Given the description of an element on the screen output the (x, y) to click on. 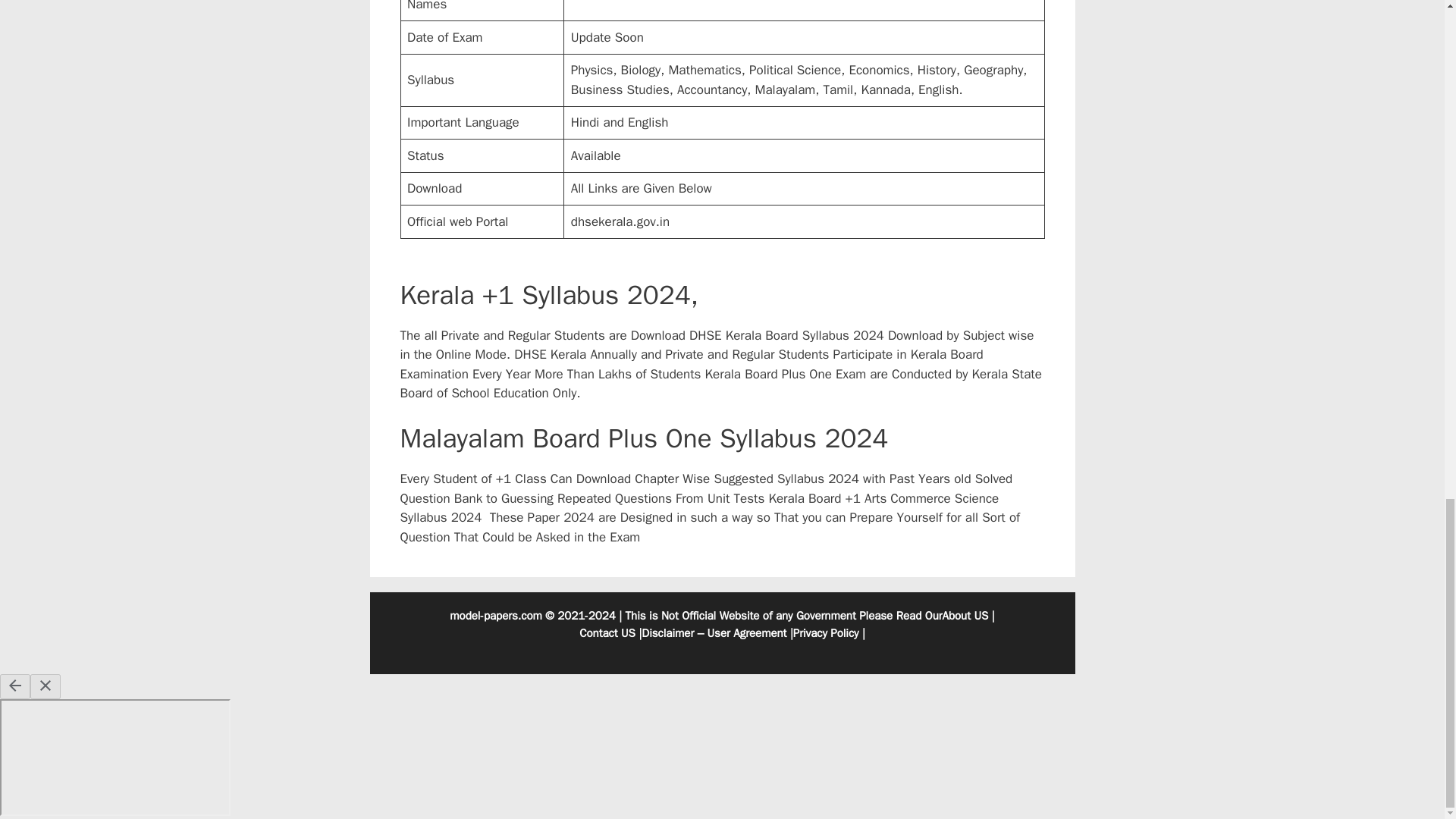
Contact US (606, 632)
Privacy Policy (826, 632)
About US (965, 615)
